Given the description of an element on the screen output the (x, y) to click on. 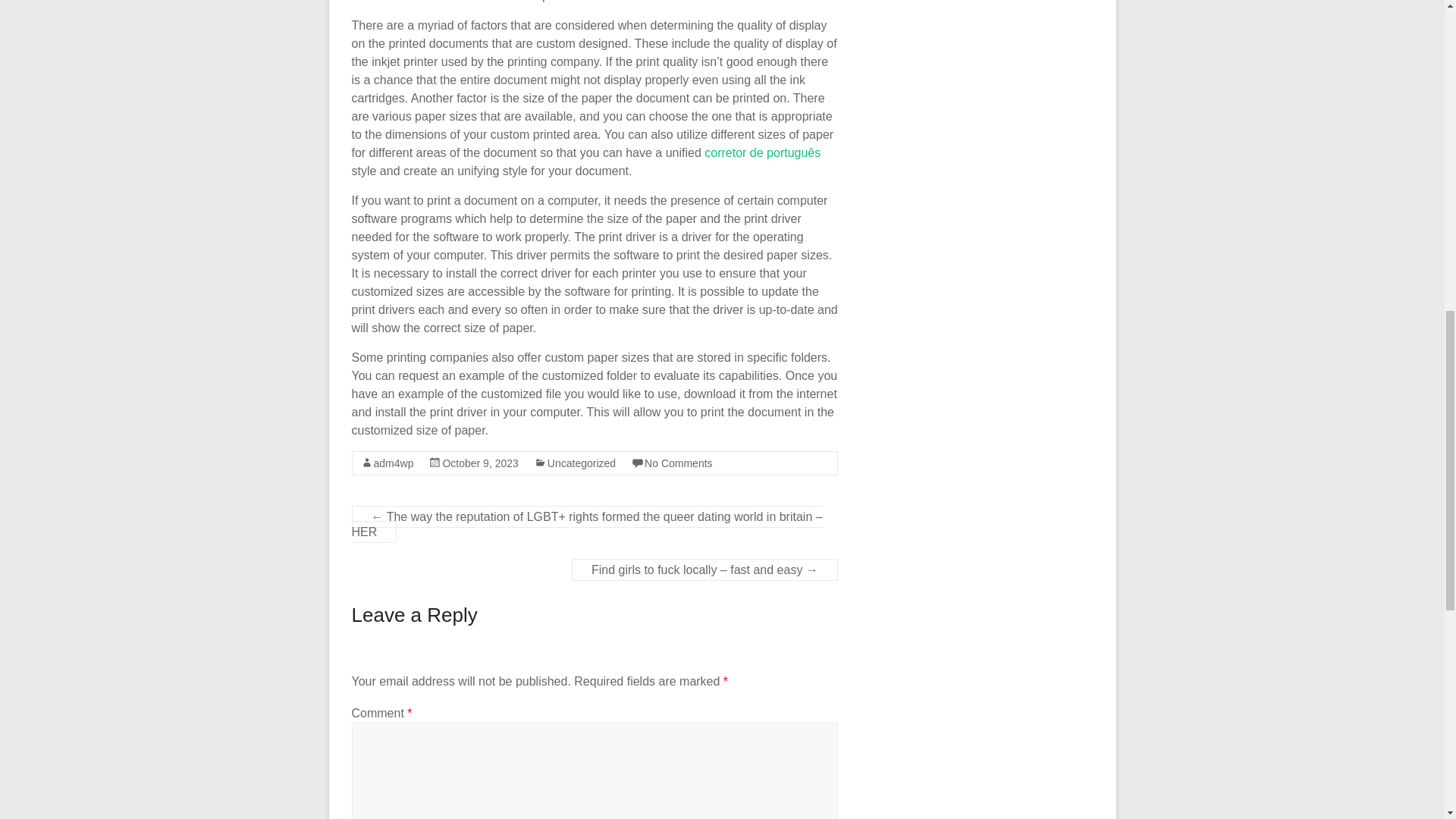
October 9, 2023 (480, 463)
No Comments (678, 463)
Uncategorized (581, 463)
1:56 am (480, 463)
adm4wp (392, 463)
